Given the description of an element on the screen output the (x, y) to click on. 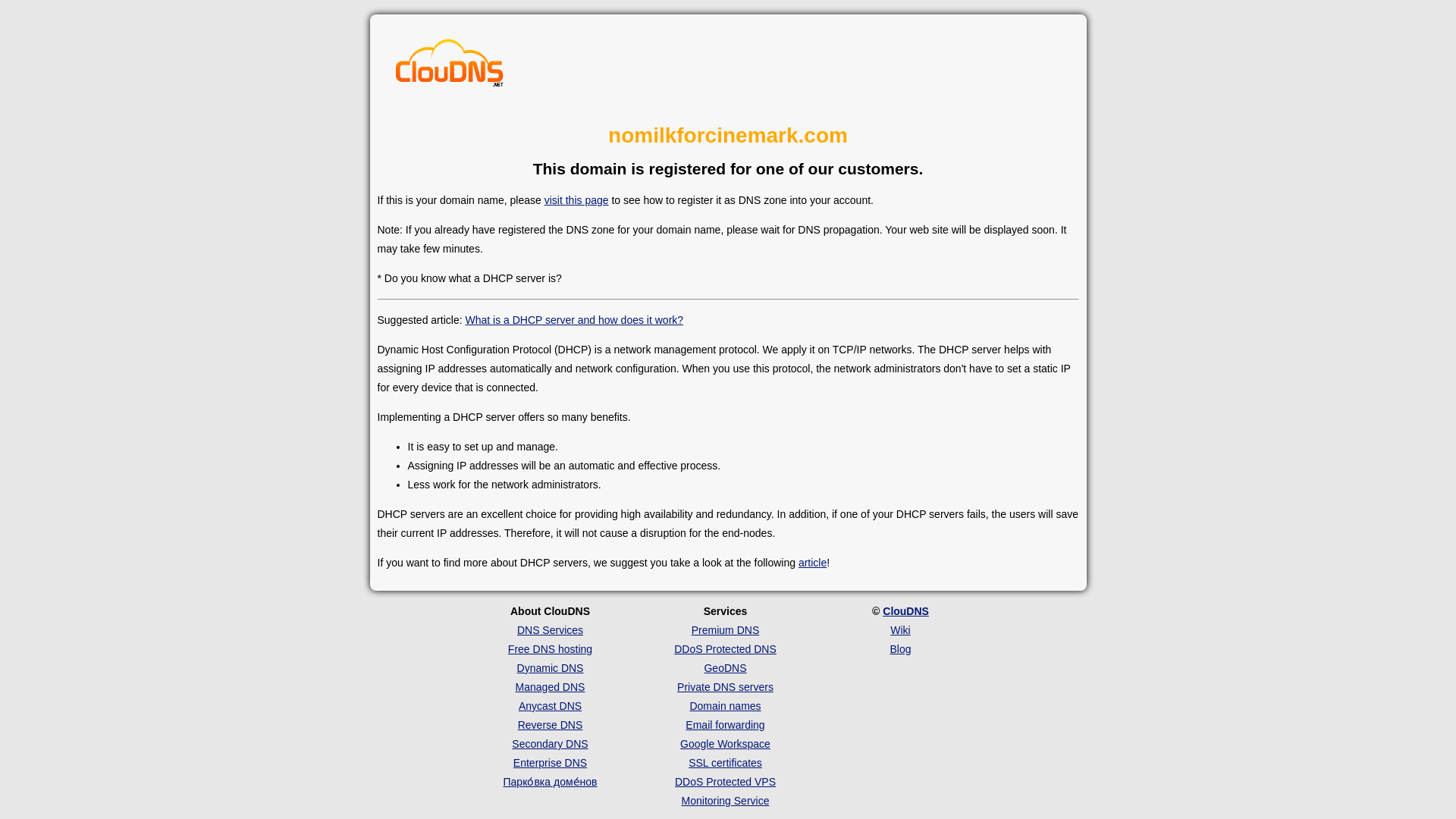
Email forwarding (724, 725)
Anycast DNS (549, 705)
Private DNS servers (725, 686)
Managed DNS (550, 686)
Blog (900, 648)
DDoS Protected DNS (725, 648)
article (812, 562)
SSL certificates (724, 762)
DNS Services (549, 630)
Reverse DNS (550, 725)
Cloud DNS (449, 66)
Domain names (724, 705)
GeoDNS (724, 667)
Enterprise DNS (549, 762)
DDoS Protected VPS (725, 781)
